Given the description of an element on the screen output the (x, y) to click on. 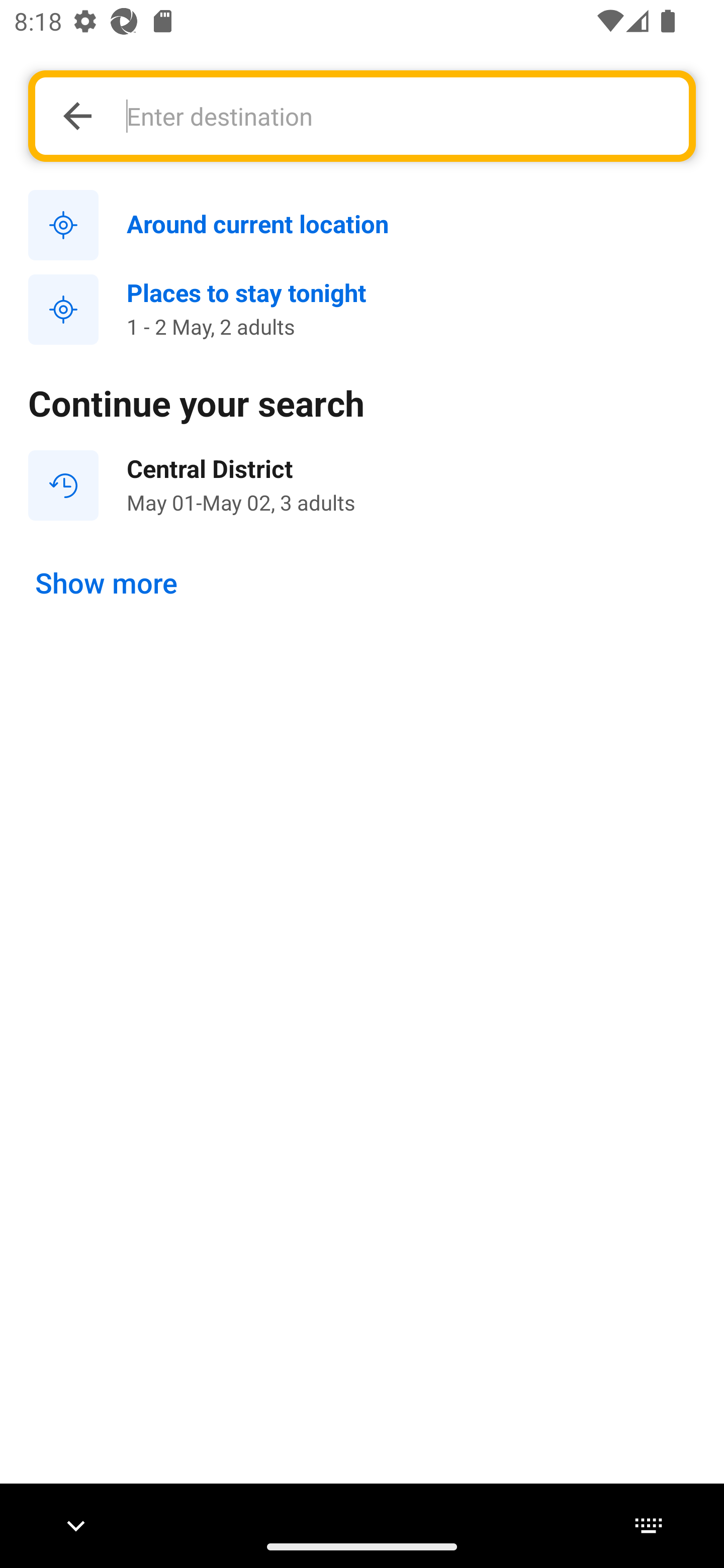
Enter destination (396, 115)
Around current location (362, 225)
Places to stay tonight 1 - 2 May, 2 adults (362, 309)
Central District May 01-May 02, 3 adults  (362, 485)
Show more (106, 583)
